Given the description of an element on the screen output the (x, y) to click on. 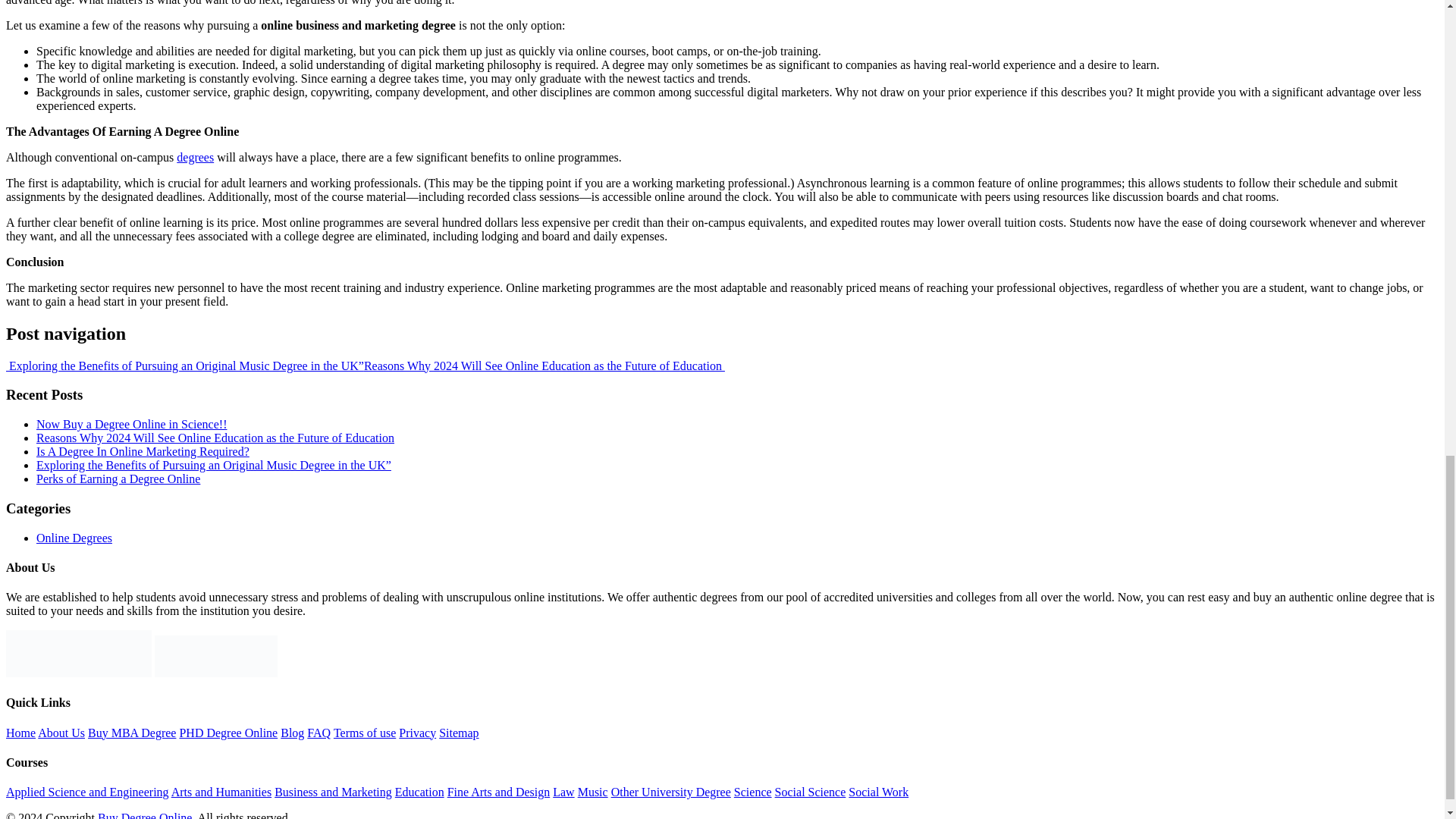
Is A Degree In Online Marketing Required? (142, 451)
Perks of Earning a Degree Online (118, 478)
Online Degrees (74, 537)
degrees (195, 156)
Now Buy a Degree Online in Science!! (131, 423)
